Given the description of an element on the screen output the (x, y) to click on. 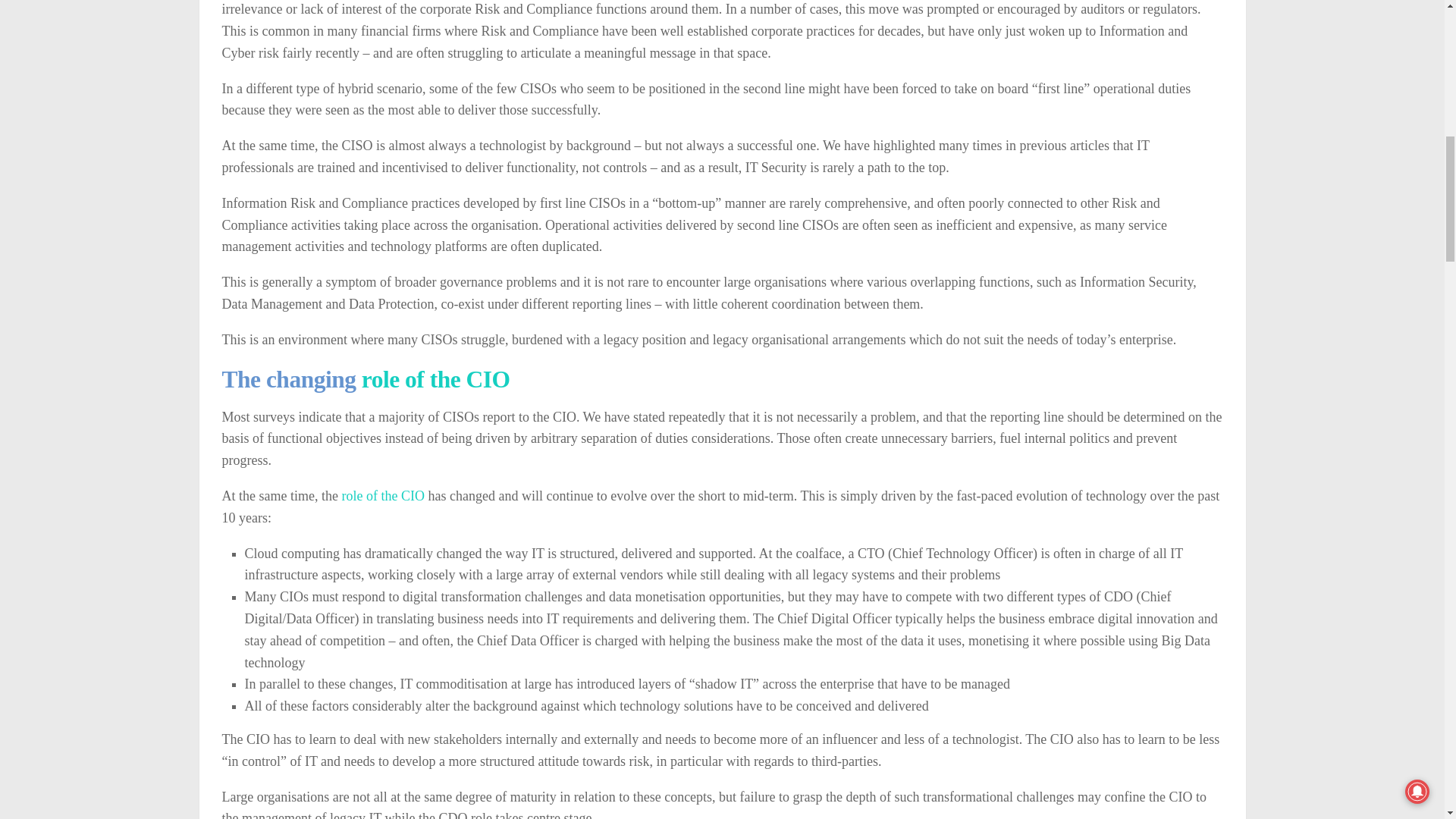
role of the CIO (436, 379)
role of the CIO (381, 495)
